Given the description of an element on the screen output the (x, y) to click on. 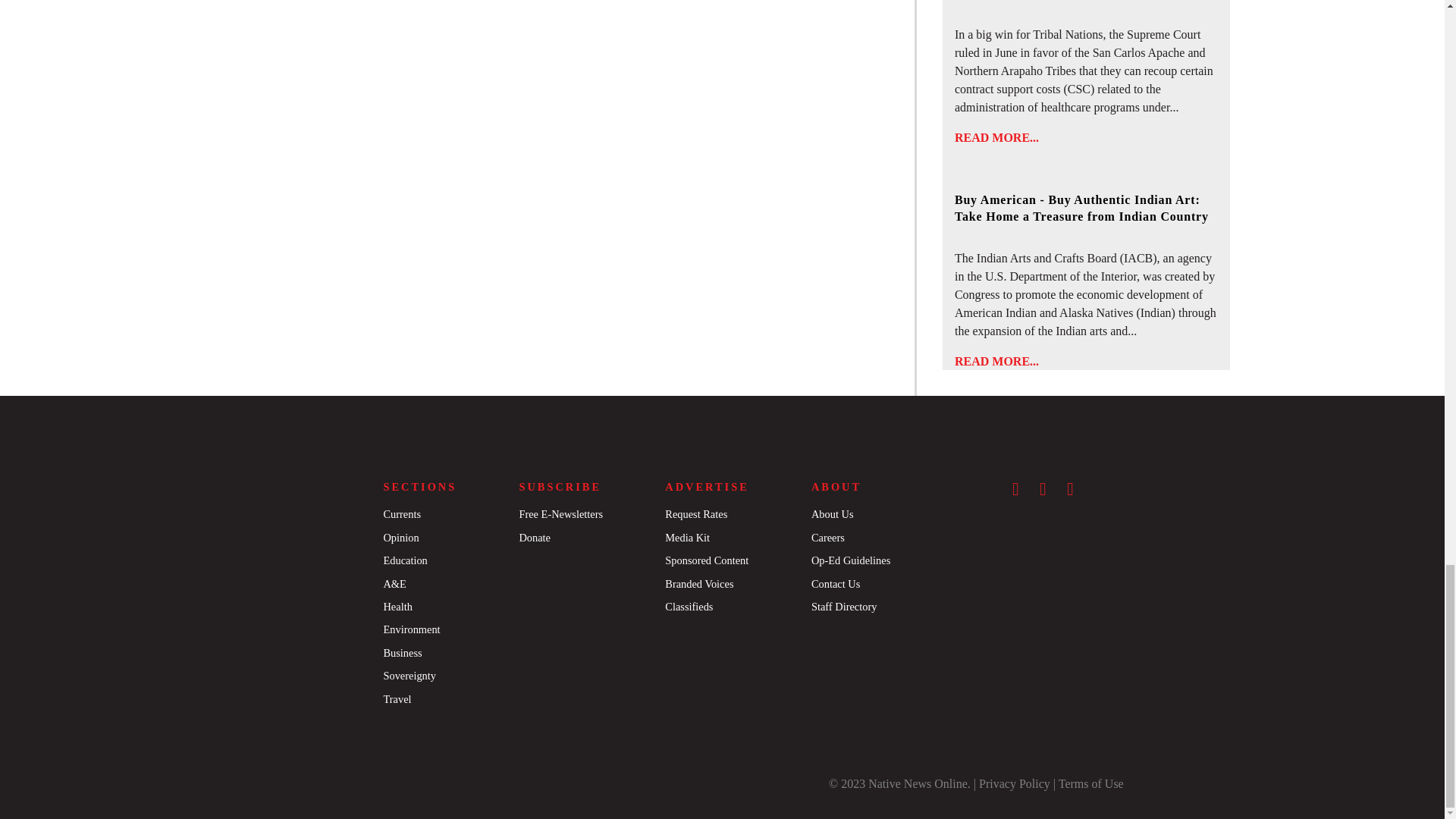
Sponsored Content (706, 560)
Media Kit (687, 537)
Free E-Newsletters (560, 513)
Donate (534, 537)
Branded Voices (699, 583)
Classifieds (689, 606)
Environment (410, 629)
Education (404, 560)
Sovereignty (408, 675)
Business (402, 653)
